Given the description of an element on the screen output the (x, y) to click on. 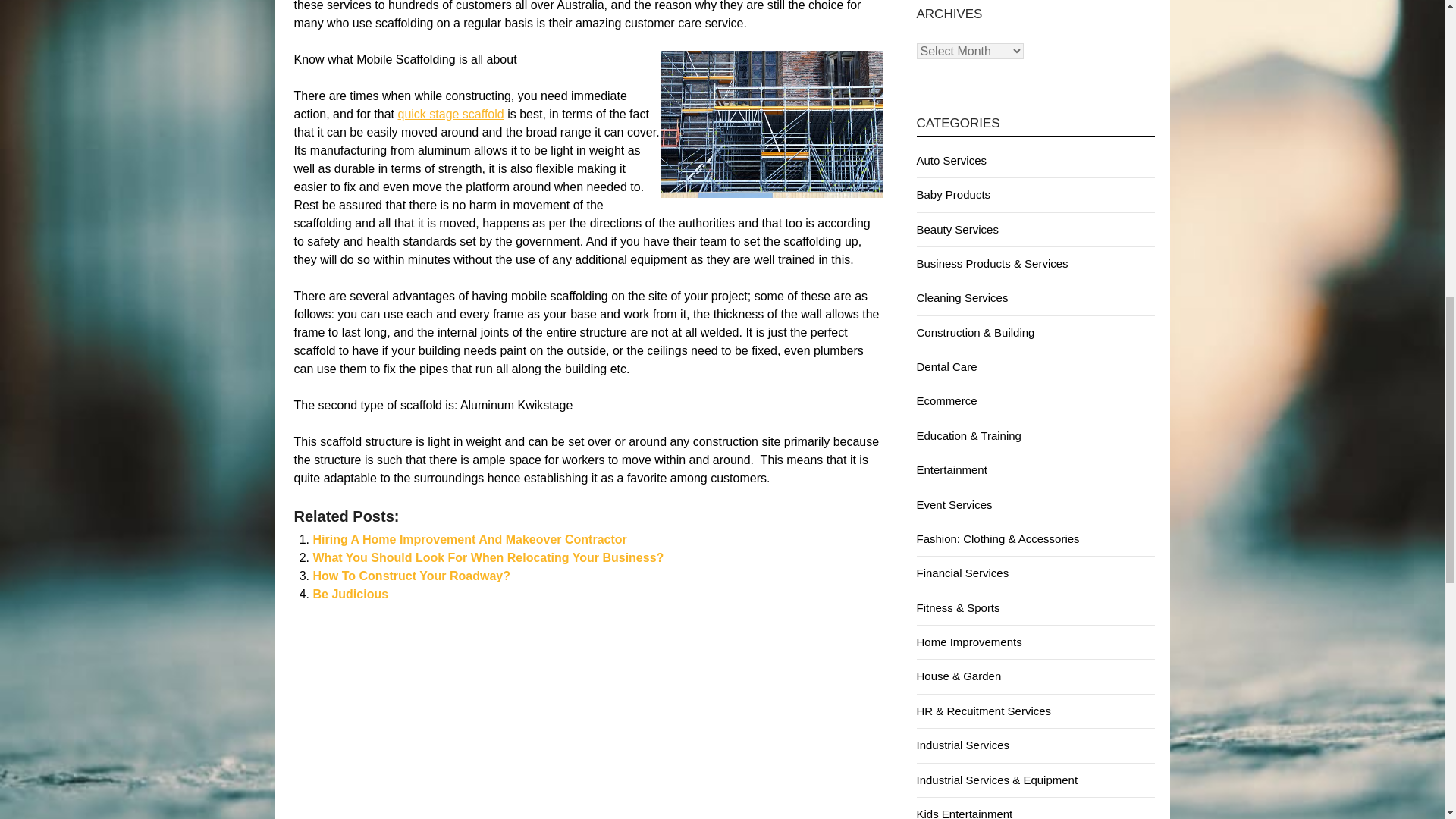
Entertainment (951, 469)
Ecommerce (945, 400)
Entertainment (951, 469)
What You Should Look For When Relocating Your Business? (488, 557)
Hiring A Home Improvement And Makeover Contractor (469, 539)
Home Improvements (968, 641)
Be Judicious (350, 594)
Kids Entertainment (963, 813)
Event Services (953, 504)
Baby Products (952, 194)
Financial Services (962, 572)
How To Construct Your Roadway? (411, 575)
Dental Care (945, 366)
Auto Services (951, 160)
How To Construct Your Roadway? (411, 575)
